Given the description of an element on the screen output the (x, y) to click on. 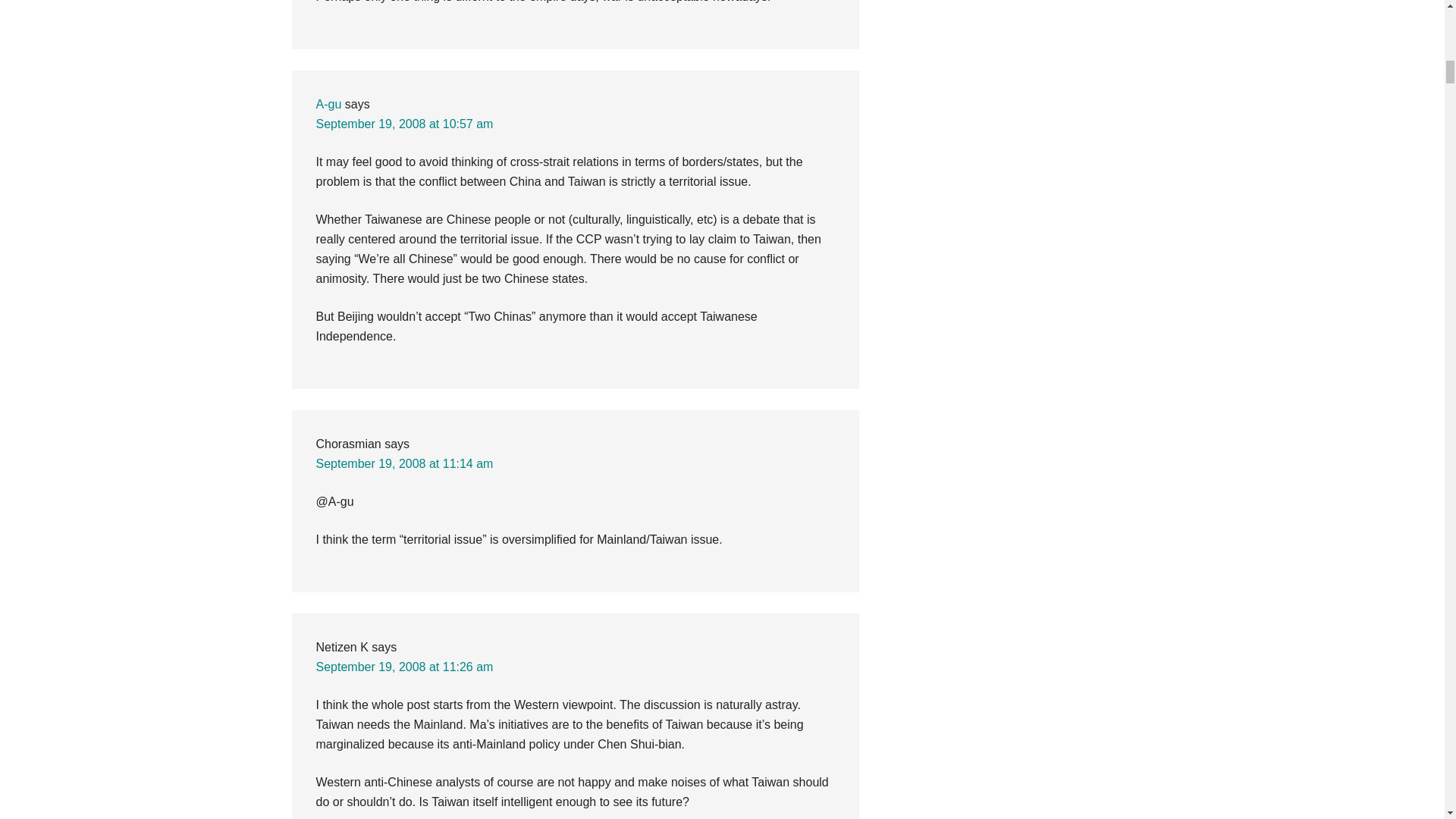
September 19, 2008 at 11:14 am (404, 463)
A-gu (327, 103)
September 19, 2008 at 10:57 am (404, 123)
September 19, 2008 at 11:26 am (404, 666)
